Given the description of an element on the screen output the (x, y) to click on. 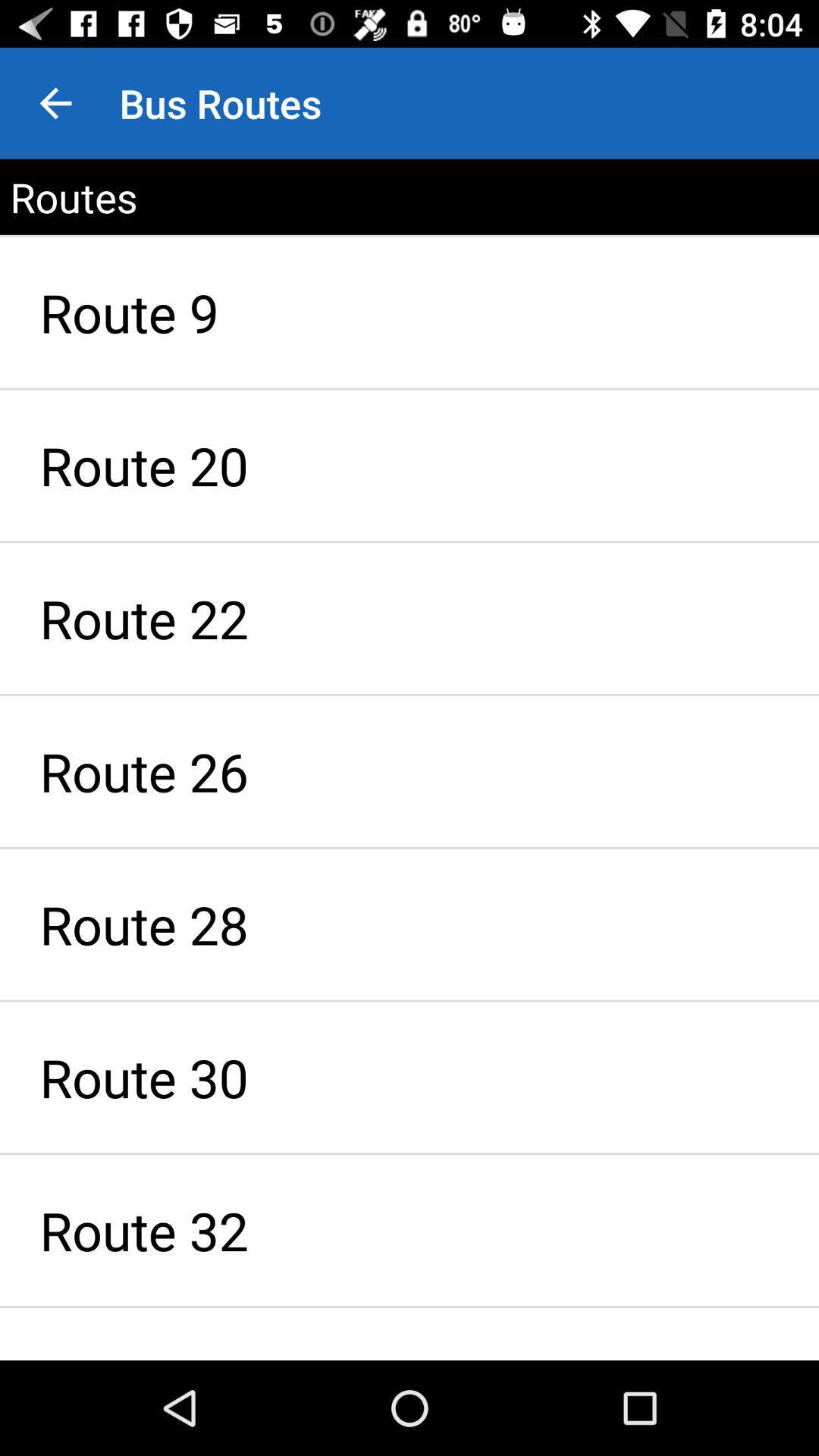
flip until the route 28 item (409, 924)
